Given the description of an element on the screen output the (x, y) to click on. 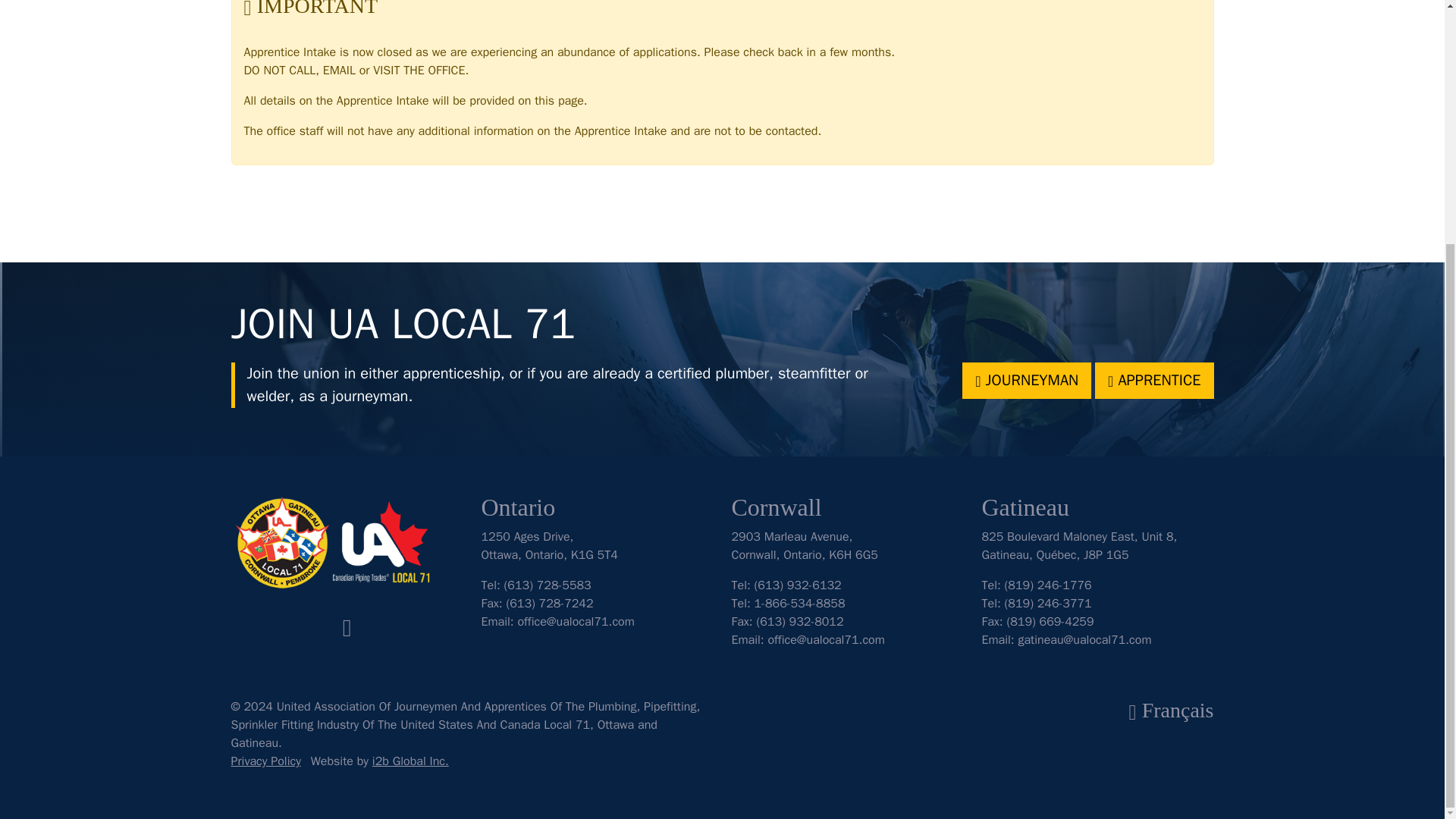
 JOURNEYMAN (1026, 380)
